Given the description of an element on the screen output the (x, y) to click on. 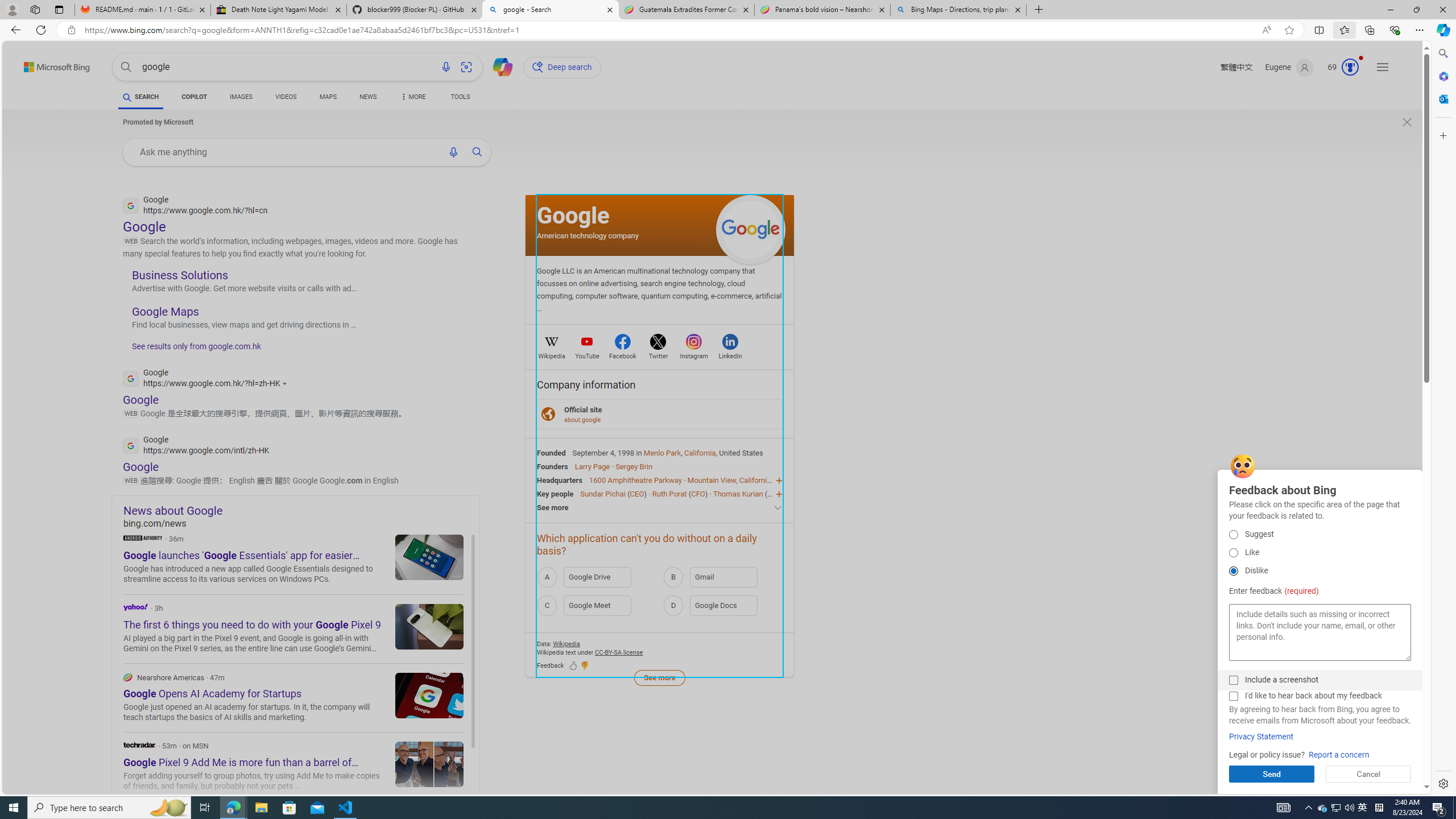
Send (1271, 773)
Like (1232, 552)
I'd like to hear back about my feedback (1232, 696)
